Given the description of an element on the screen output the (x, y) to click on. 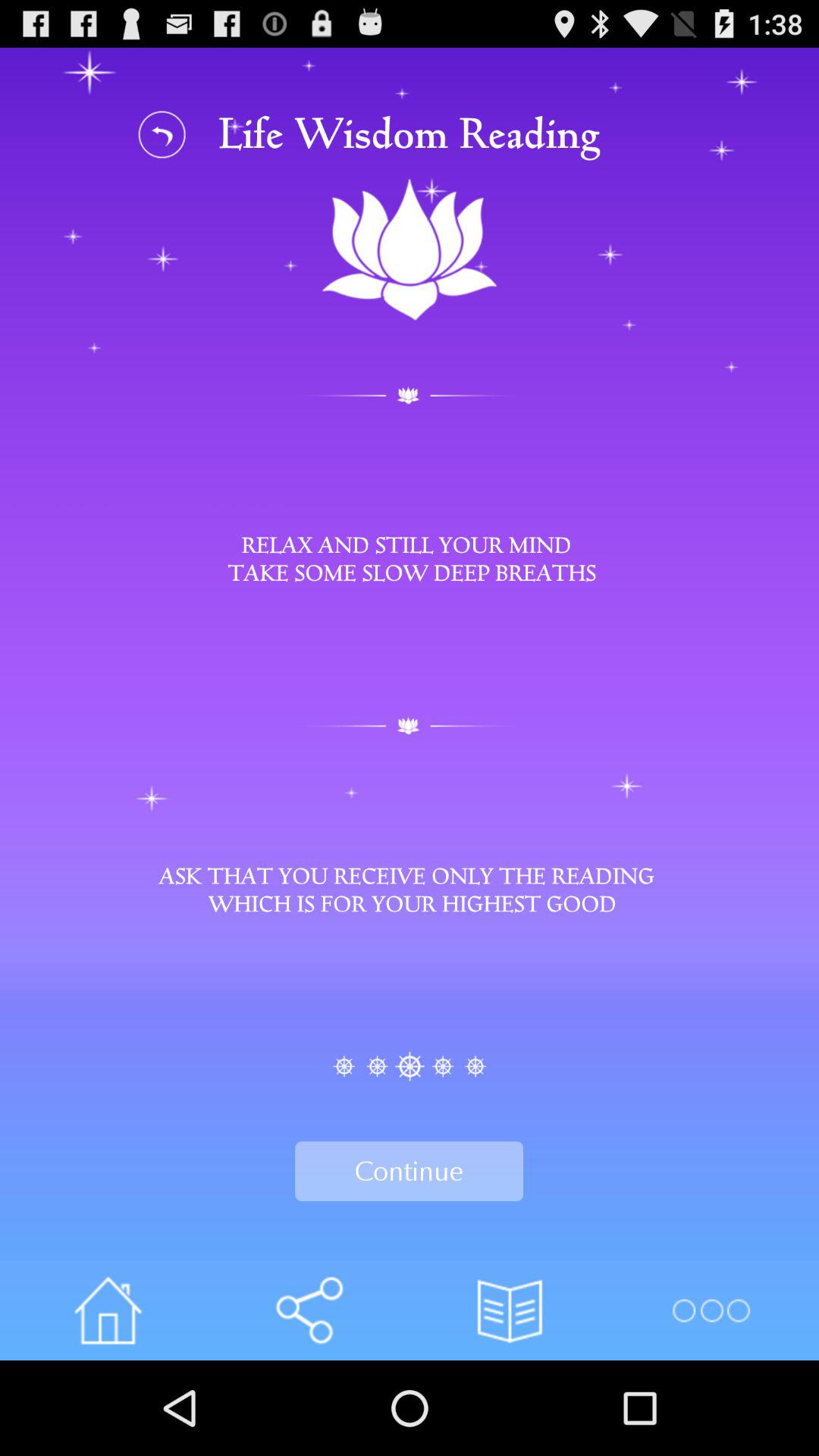
go to the home page (107, 1310)
